Given the description of an element on the screen output the (x, y) to click on. 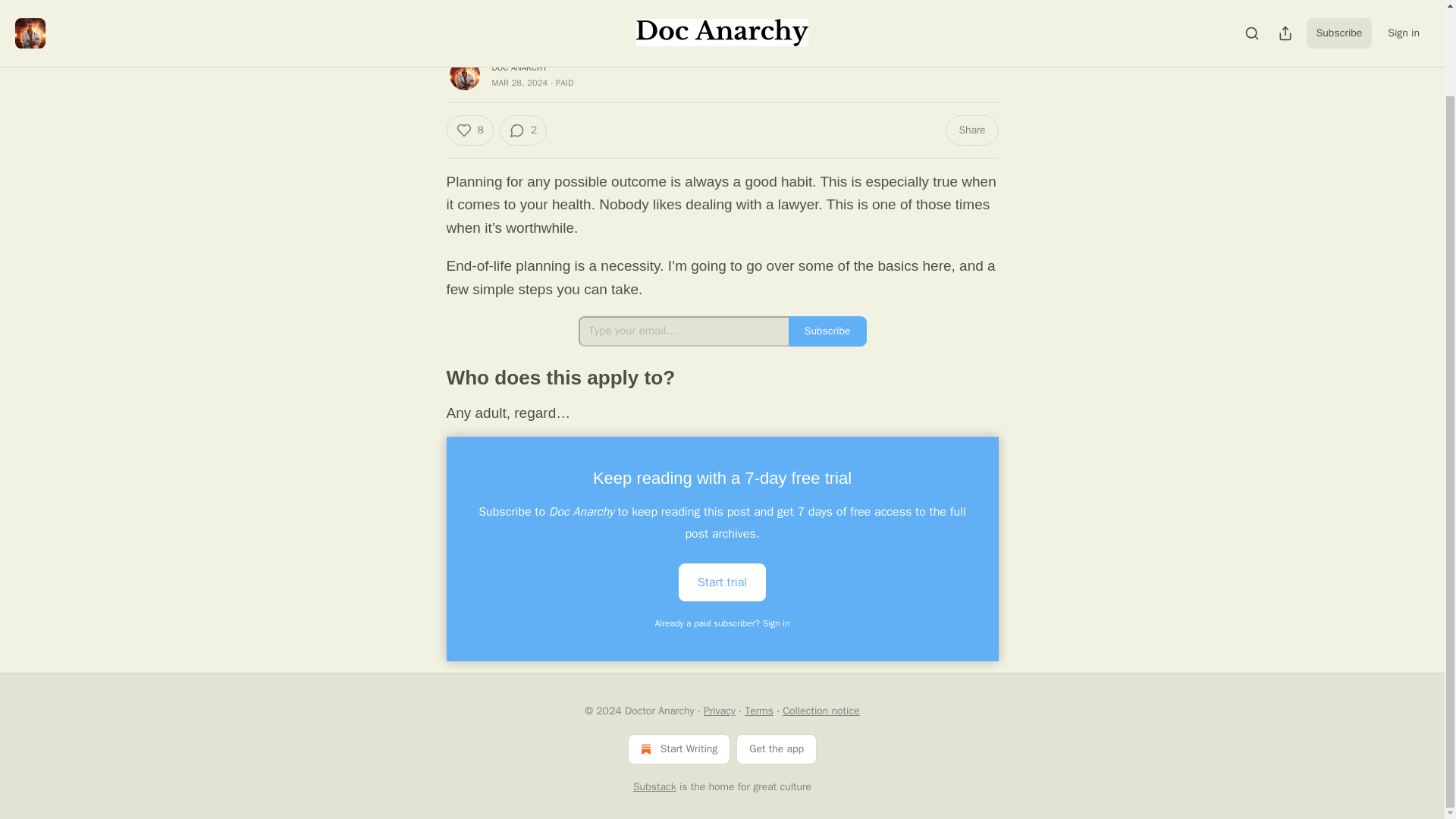
Get the app (776, 748)
DOC ANARCHY (519, 67)
Already a paid subscriber? Sign in (722, 623)
Subscribe (827, 331)
Substack (655, 786)
Start Writing (678, 748)
8 (469, 130)
Terms (758, 710)
Privacy (719, 710)
Start trial (721, 582)
